Given the description of an element on the screen output the (x, y) to click on. 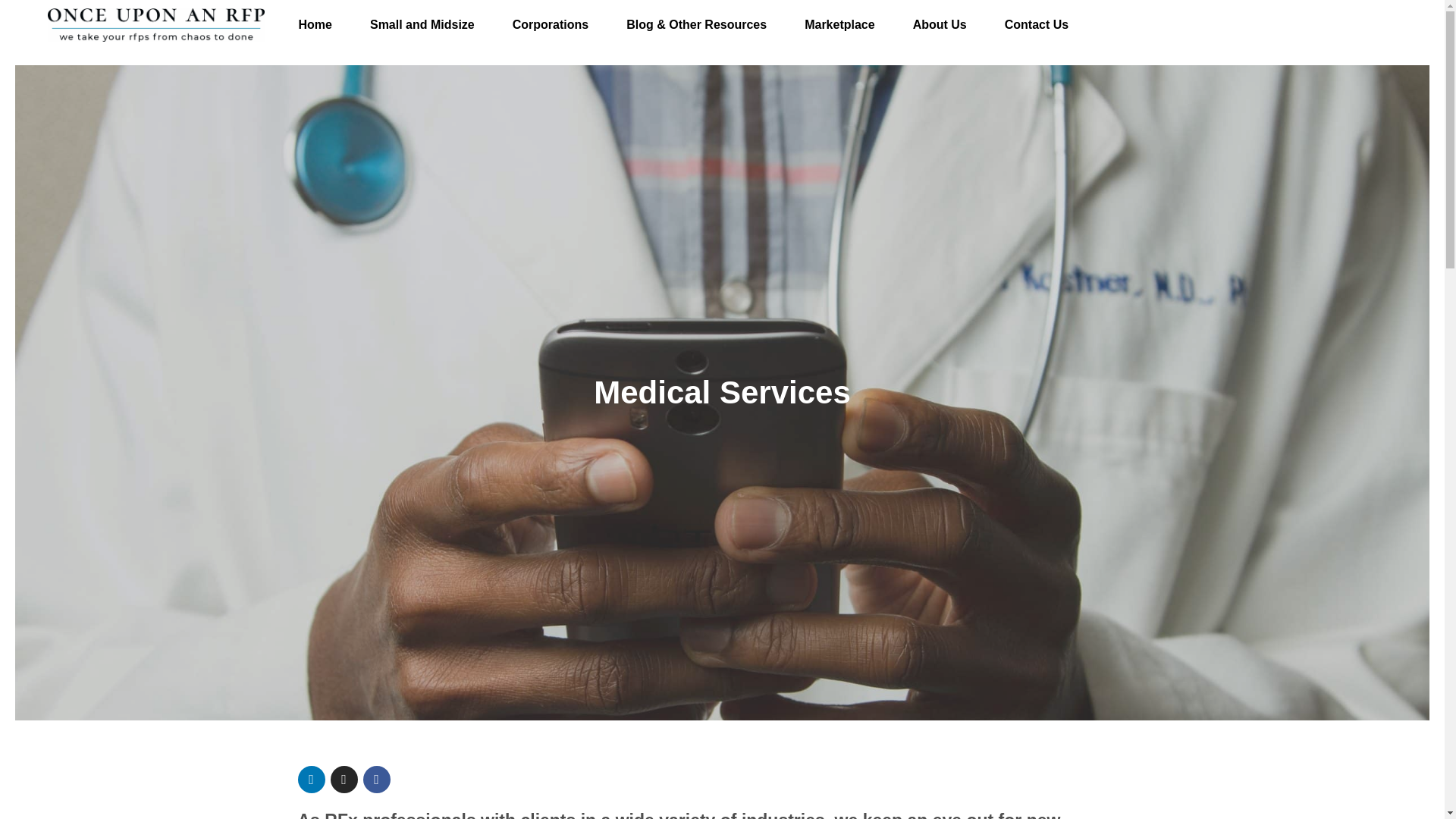
Contact Us (1036, 24)
Corporations (550, 24)
Small and Midsize (421, 24)
Home (314, 24)
About Us (939, 24)
Marketplace (839, 24)
